Given the description of an element on the screen output the (x, y) to click on. 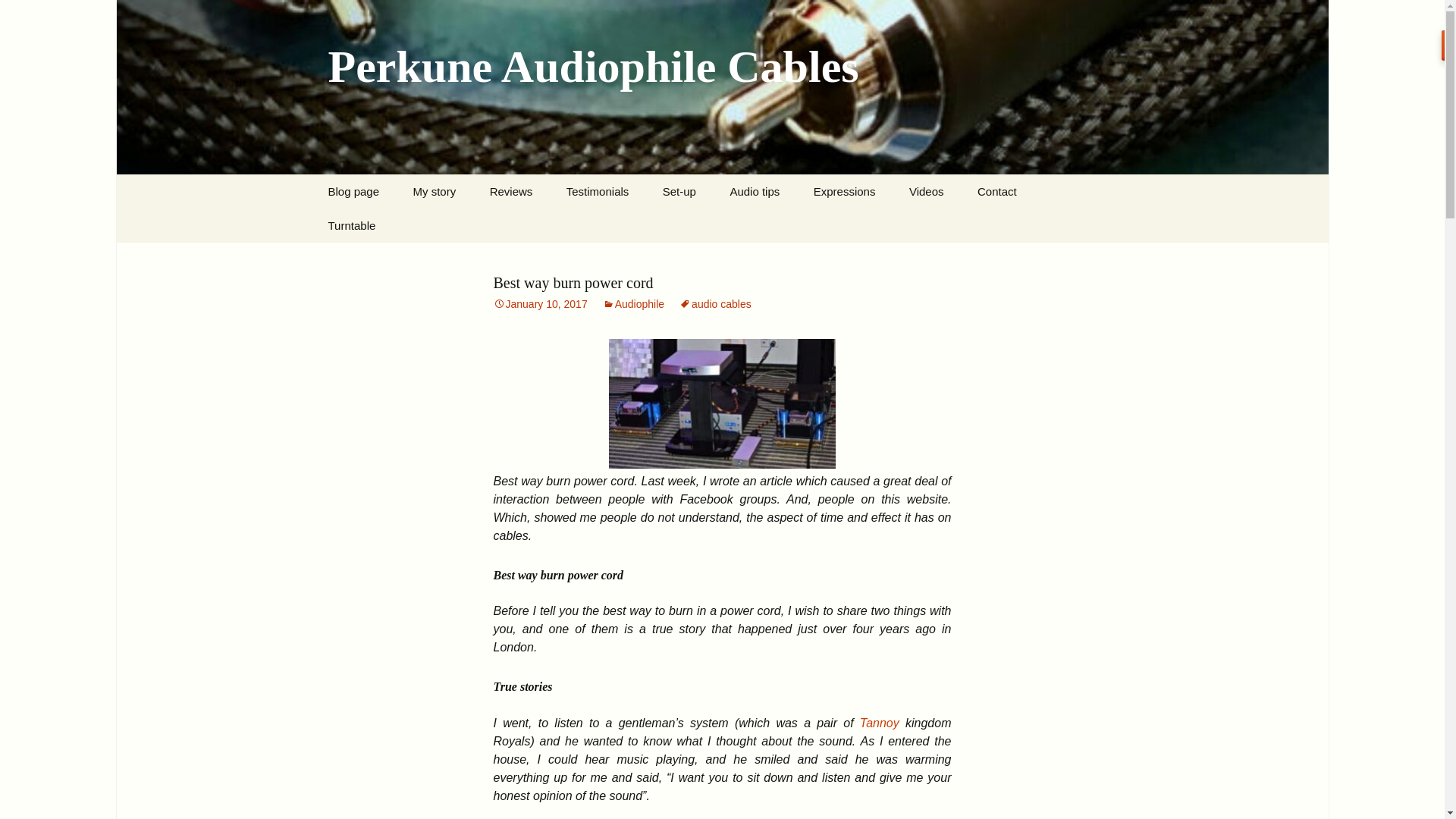
Permalink to Best way burn power cord (539, 304)
Audiophile (632, 304)
Testimonials (598, 191)
January 10, 2017 (539, 304)
Contact (997, 191)
Pro-jet turntable series (388, 259)
audio cables (715, 304)
Set-up (679, 191)
Expressions (844, 191)
My story (434, 191)
Videos (926, 191)
Reviews (511, 191)
Tannoy (879, 722)
Speaker cable review by Ludwig Hegel (550, 230)
